Given the description of an element on the screen output the (x, y) to click on. 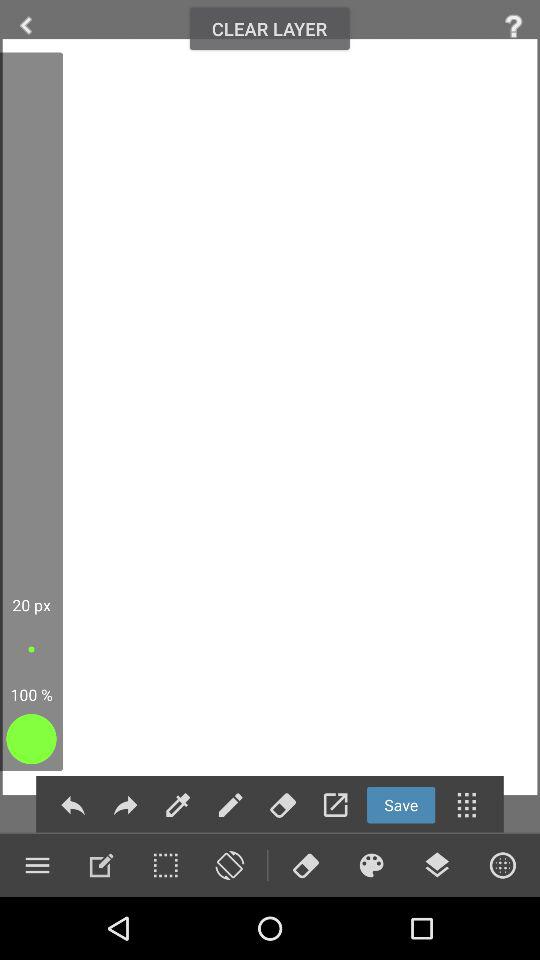
draw (101, 865)
